Given the description of an element on the screen output the (x, y) to click on. 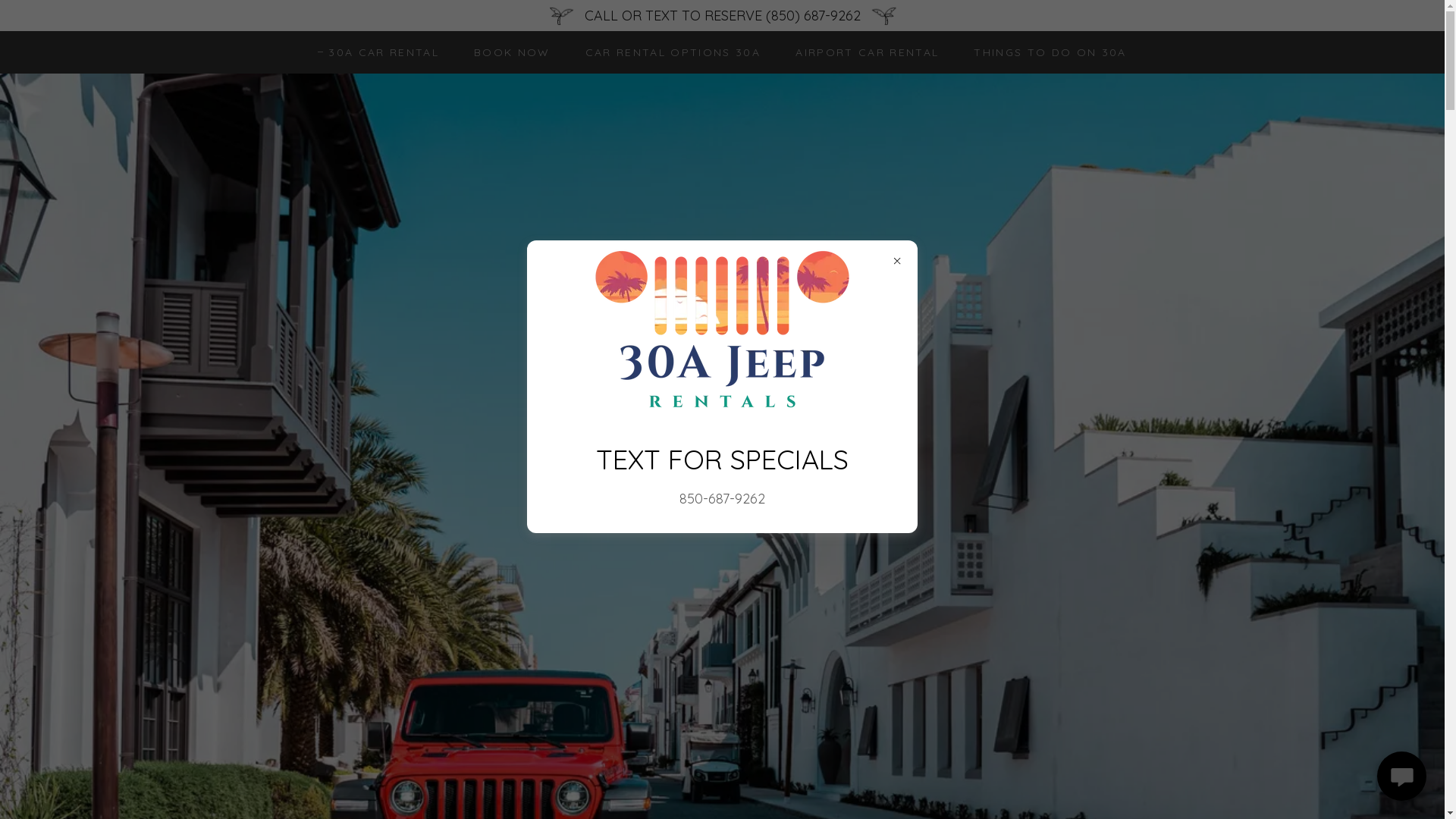
AIRPORT CAR RENTAL Element type: text (861, 51)
THINGS TO DO ON 30A Element type: text (1044, 51)
30A CAR RENTAL Element type: text (378, 52)
BOOK NOW Element type: text (506, 51)
CAR RENTAL OPTIONS 30A Element type: text (667, 51)
